Given the description of an element on the screen output the (x, y) to click on. 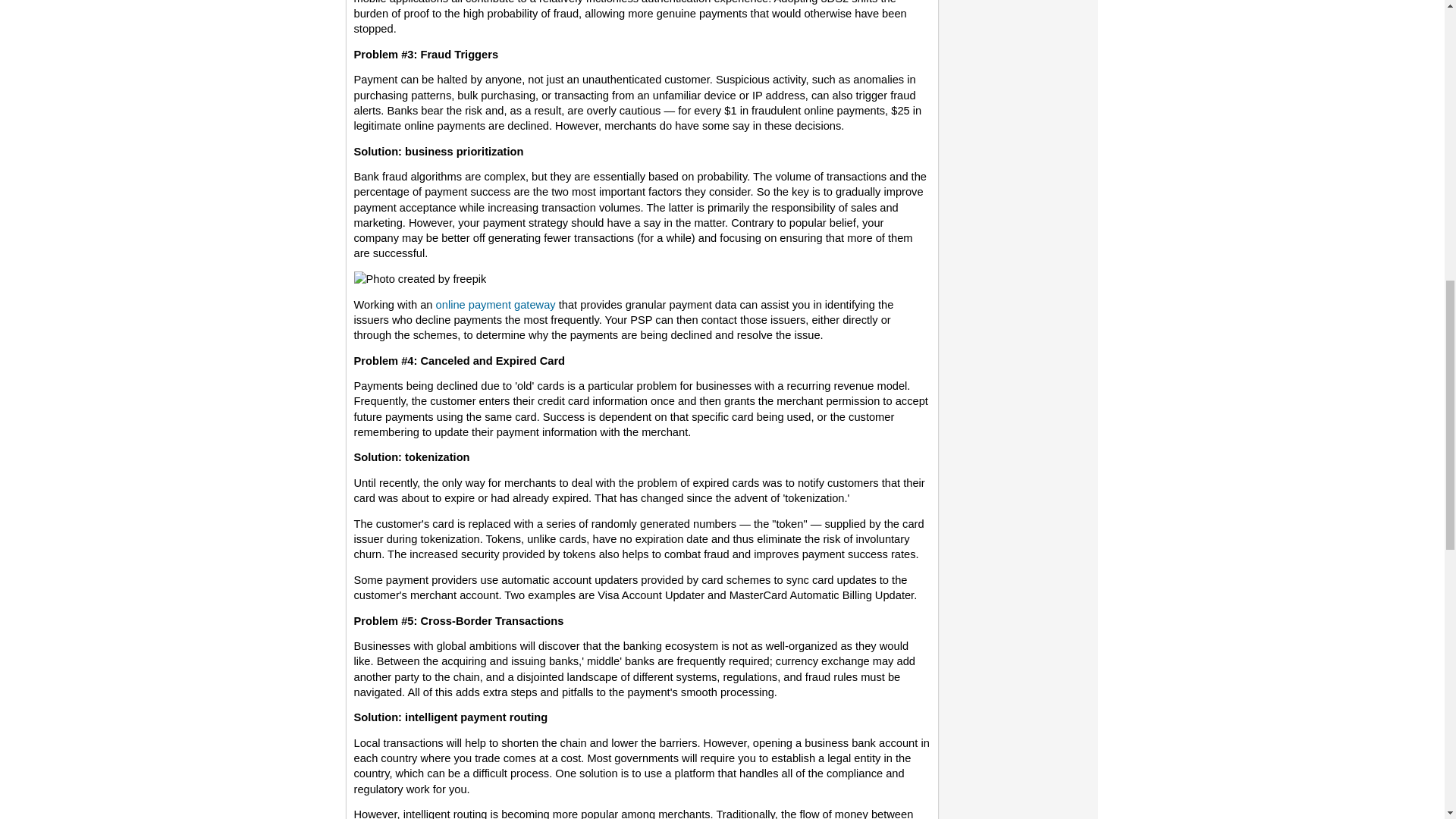
online payment gateway (495, 304)
